Given the description of an element on the screen output the (x, y) to click on. 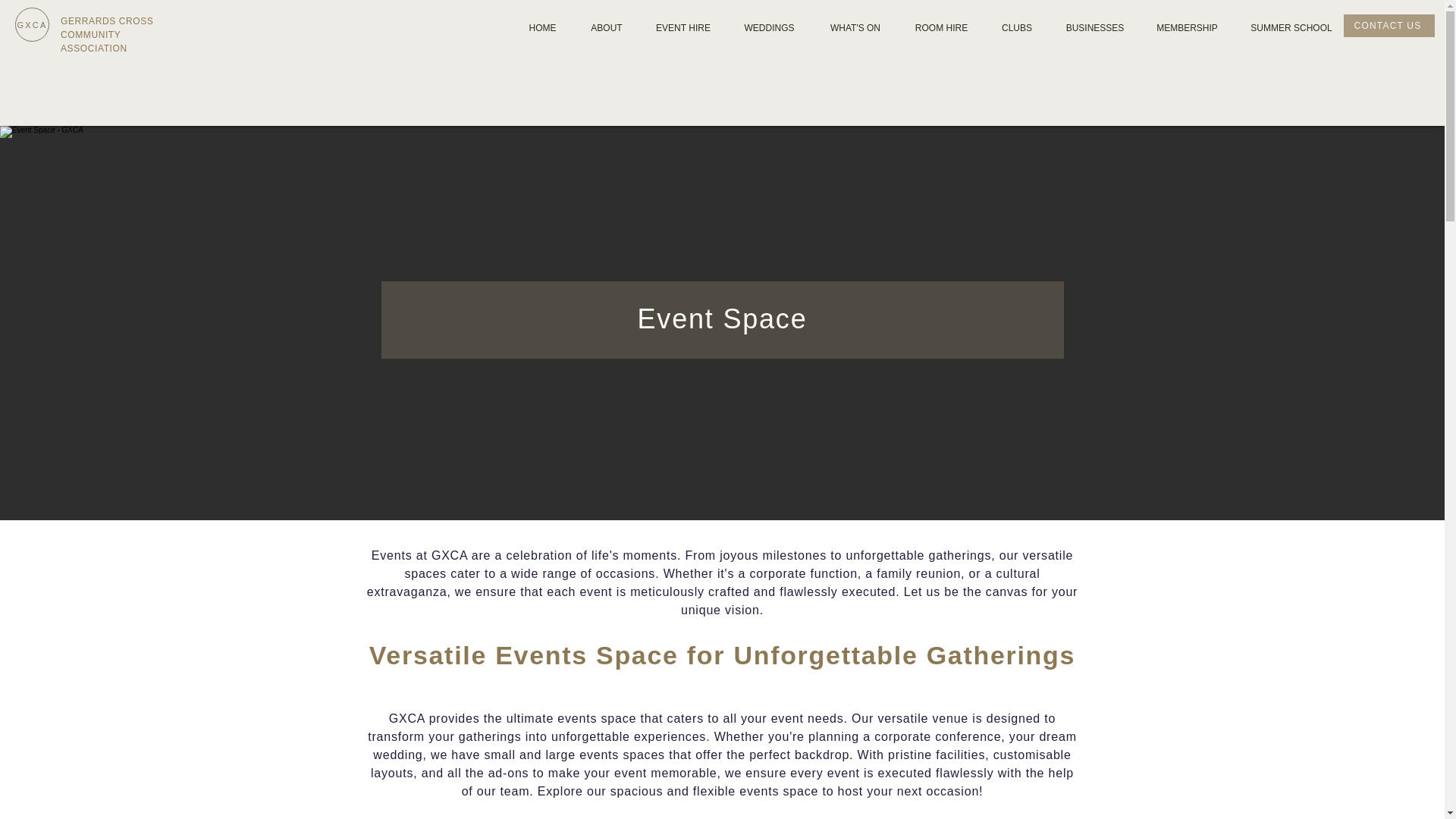
SUMMER SCHOOL (1291, 28)
WEDDINGS (769, 28)
MEMBERSHIP (1186, 28)
EVENT HIRE (683, 28)
ABOUT (606, 28)
CLUBS (1016, 28)
CONTACT US (1388, 25)
WHAT'S ON (855, 28)
GXCA (31, 24)
GERRARDS CROSS COMMUNITY ASSOCIATION (106, 34)
BUSINESSES (1094, 28)
ROOM HIRE (941, 28)
HOME (542, 28)
